Given the description of an element on the screen output the (x, y) to click on. 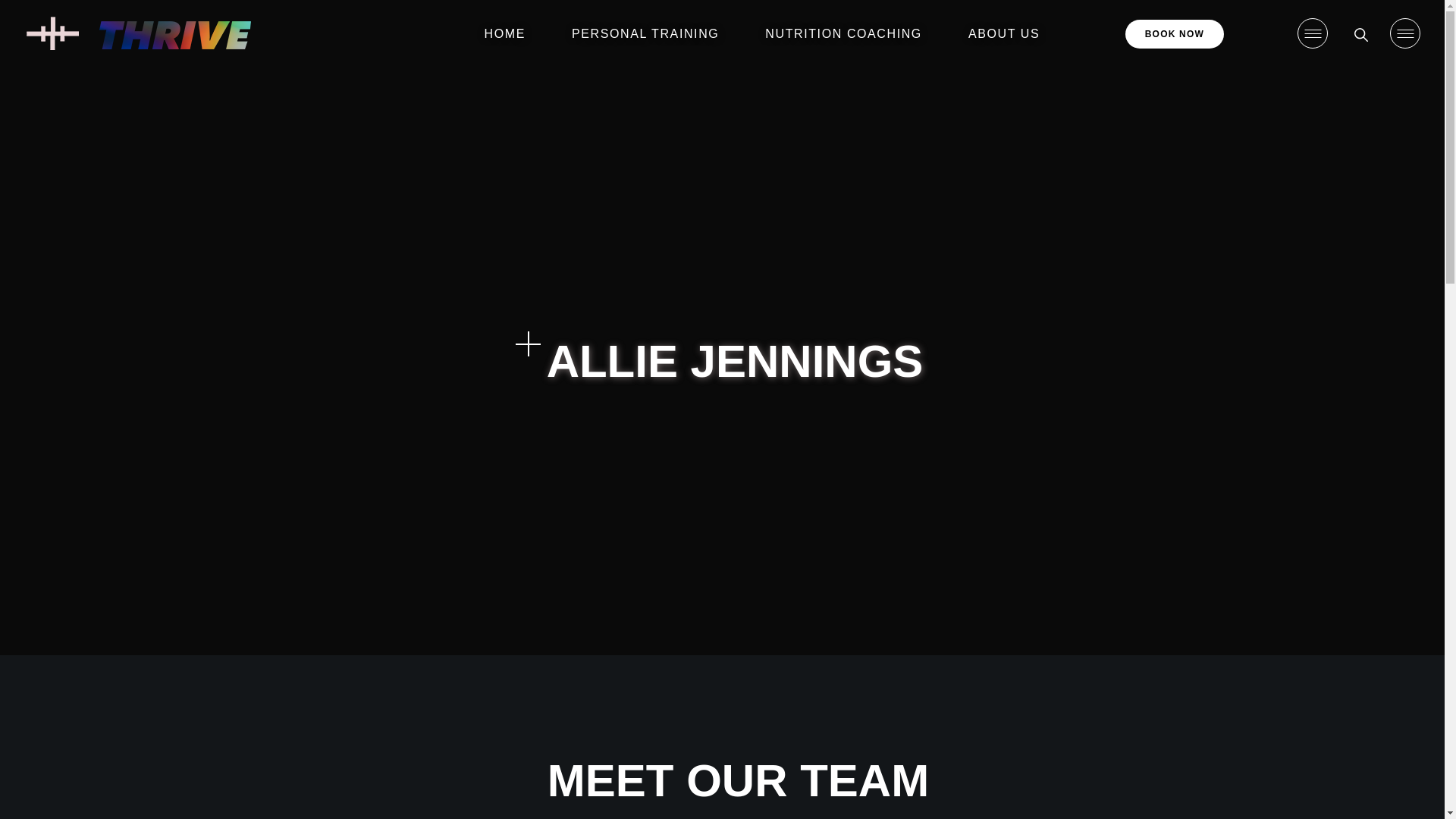
NUTRITION COACHING (847, 33)
PERSONAL TRAINING (649, 33)
BOOK NOW (1174, 33)
ABOUT US (1008, 33)
